Given the description of an element on the screen output the (x, y) to click on. 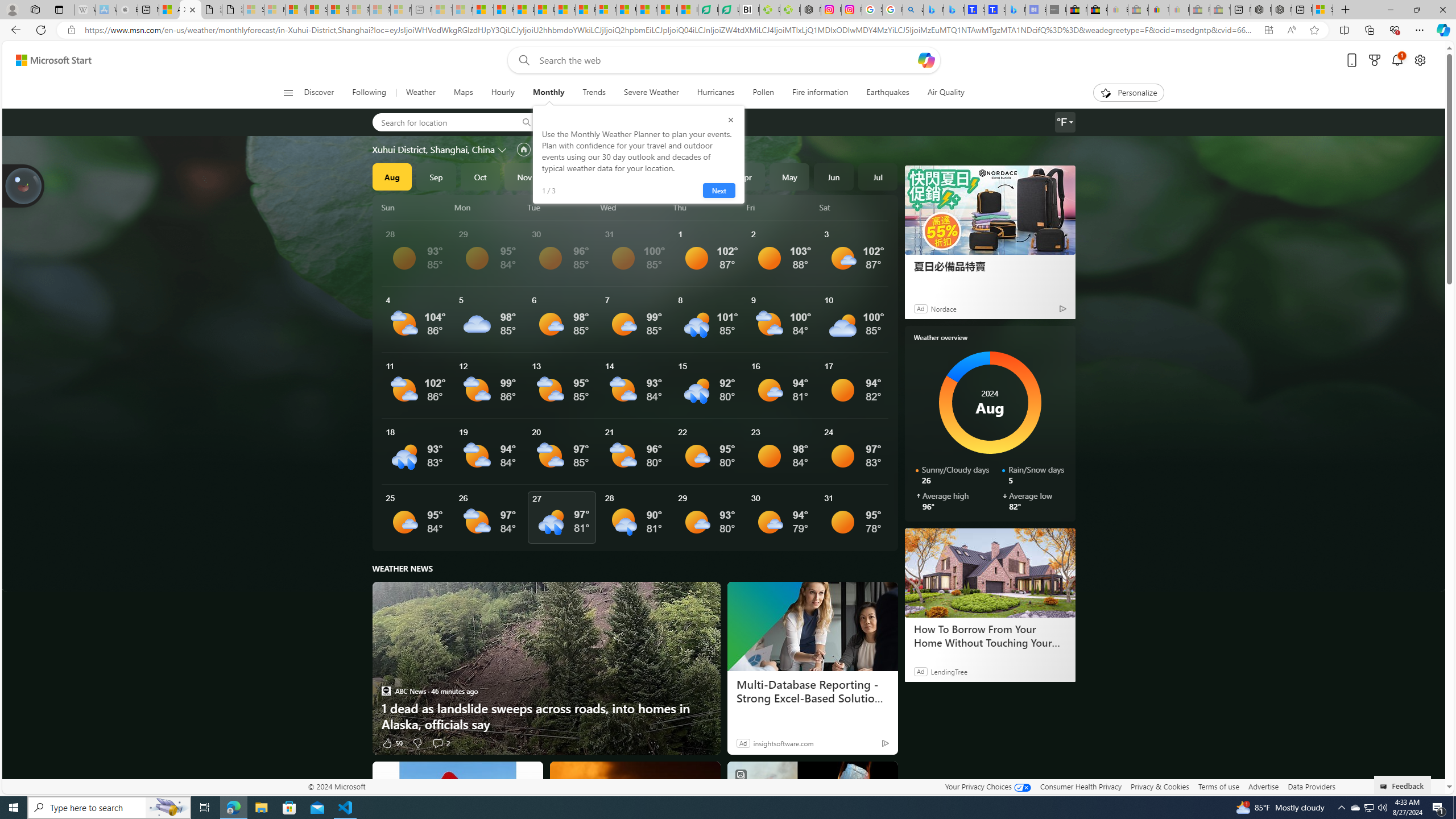
Top Stories - MSN - Sleeping (441, 9)
LendingTree (948, 671)
See More Details (853, 517)
Earthquakes (887, 92)
Dec (568, 176)
Tue (561, 207)
